Given the description of an element on the screen output the (x, y) to click on. 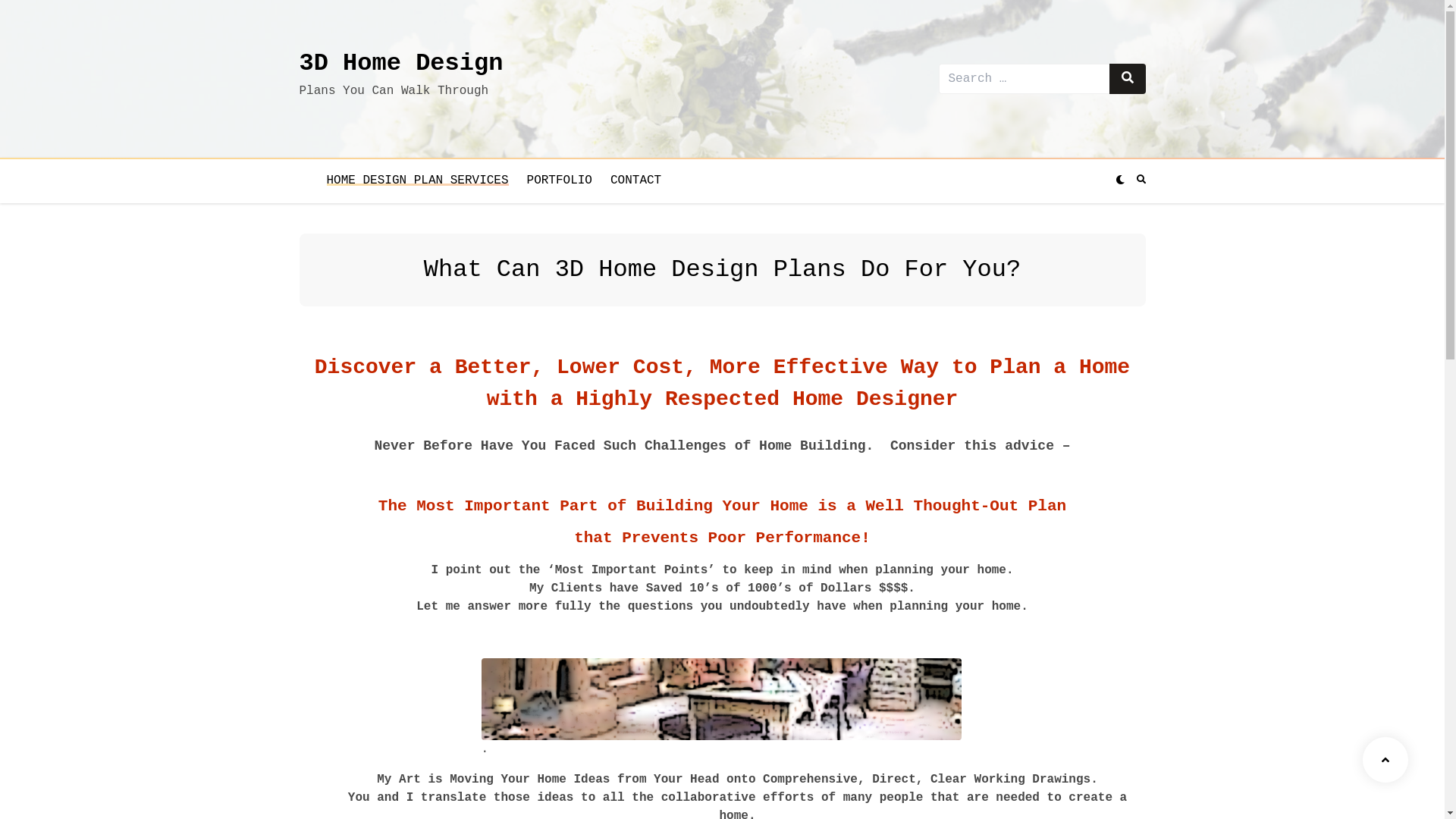
Search Modal Toggle Element type: text (1137, 180)
Color Mode Toggle Element type: text (1116, 179)
HOME DESIGN PLAN SERVICES Element type: text (417, 180)
CONTACT Element type: text (635, 180)
Search Element type: text (1126, 78)
3D Home Design Element type: text (400, 63)
PORTFOLIO Element type: text (559, 180)
